Given the description of an element on the screen output the (x, y) to click on. 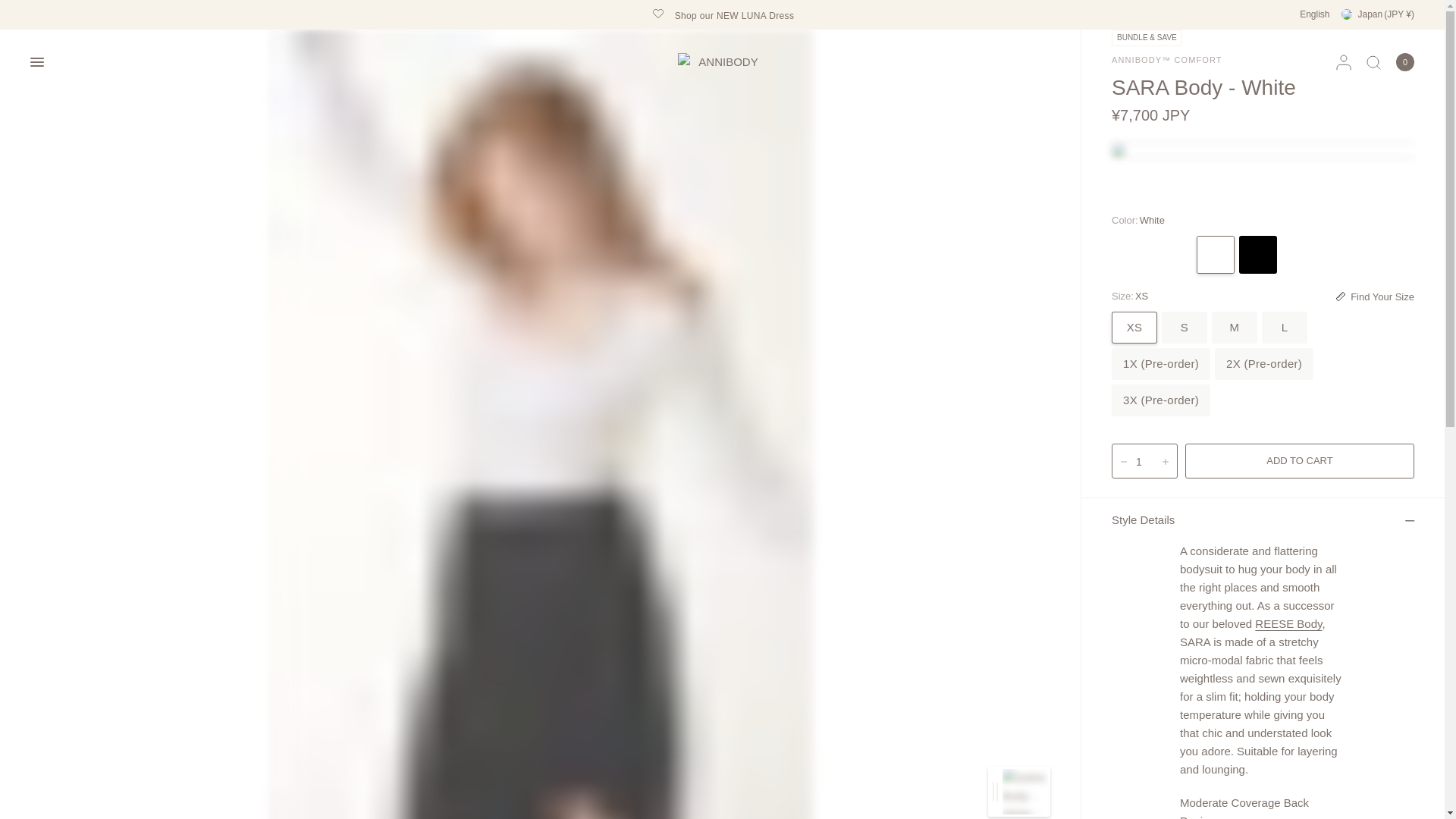
English (1314, 14)
Shop our NEW LUNA Dress (722, 14)
